Given the description of an element on the screen output the (x, y) to click on. 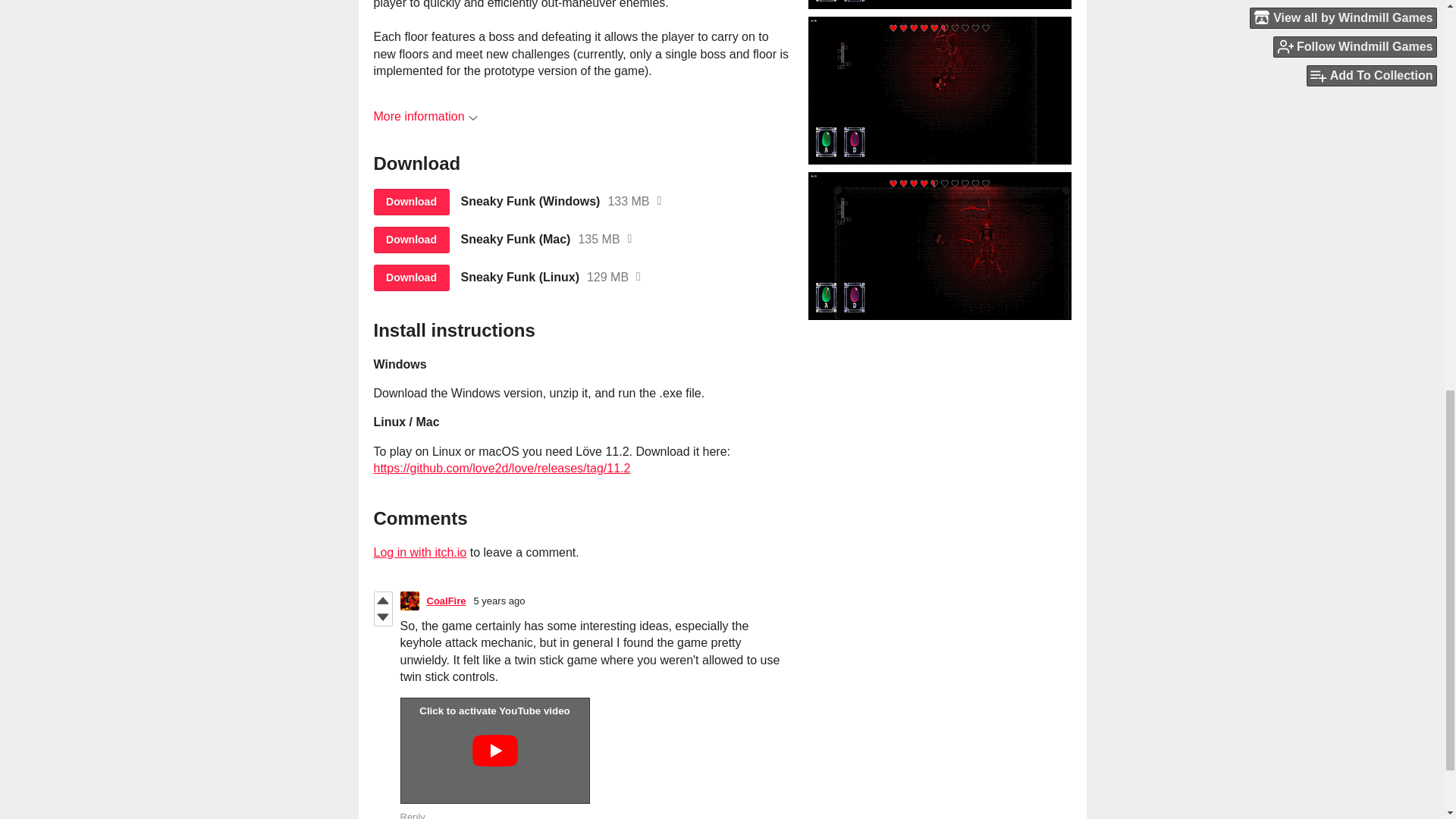
Download (410, 277)
Vote up (382, 600)
More information (424, 115)
CoalFire (445, 600)
Log in with itch.io (418, 552)
Vote down (382, 617)
Reply (412, 815)
5 years ago (499, 600)
Download (410, 202)
Download (410, 239)
2018-11-02 16:31:10 (499, 600)
